Given the description of an element on the screen output the (x, y) to click on. 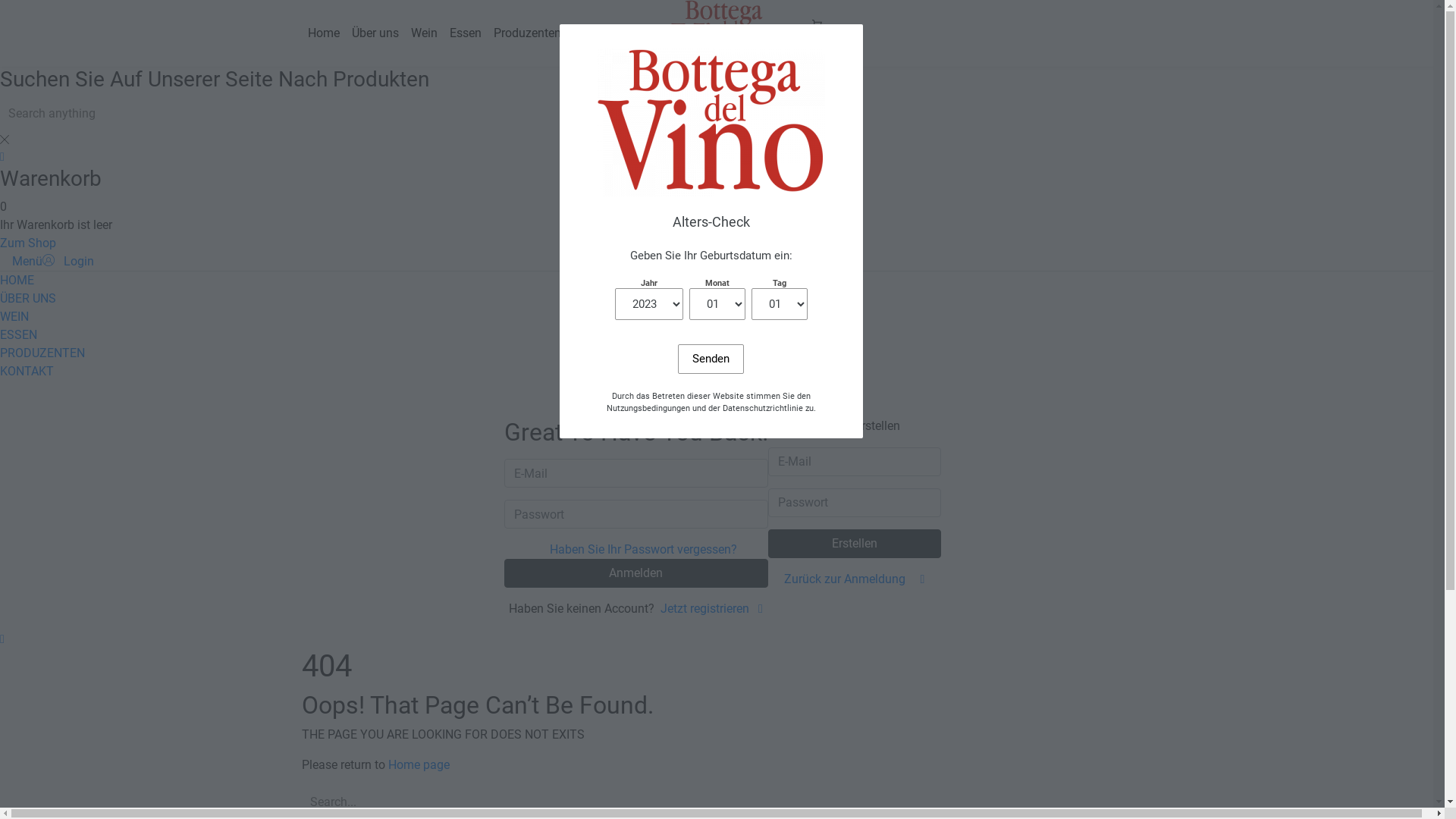
HOME Element type: text (17, 280)
Essen Element type: text (464, 33)
Wein Element type: text (423, 33)
Jetzt registrieren Element type: text (711, 608)
Senden Element type: text (710, 358)
Home Element type: text (323, 33)
Anmelden Element type: text (635, 572)
PRODUZENTEN Element type: text (42, 352)
Haben Sie Ihr Passwort vergessen? Element type: text (643, 549)
Kontakt Element type: text (594, 33)
0 Element type: text (816, 32)
KONTAKT Element type: text (26, 371)
ESSEN Element type: text (18, 334)
Zum Shop Element type: text (28, 242)
Produzenten Element type: text (526, 33)
Home page Element type: text (418, 764)
Login Element type: text (68, 261)
Erstellen Element type: text (853, 543)
WEIN Element type: text (14, 316)
